Given the description of an element on the screen output the (x, y) to click on. 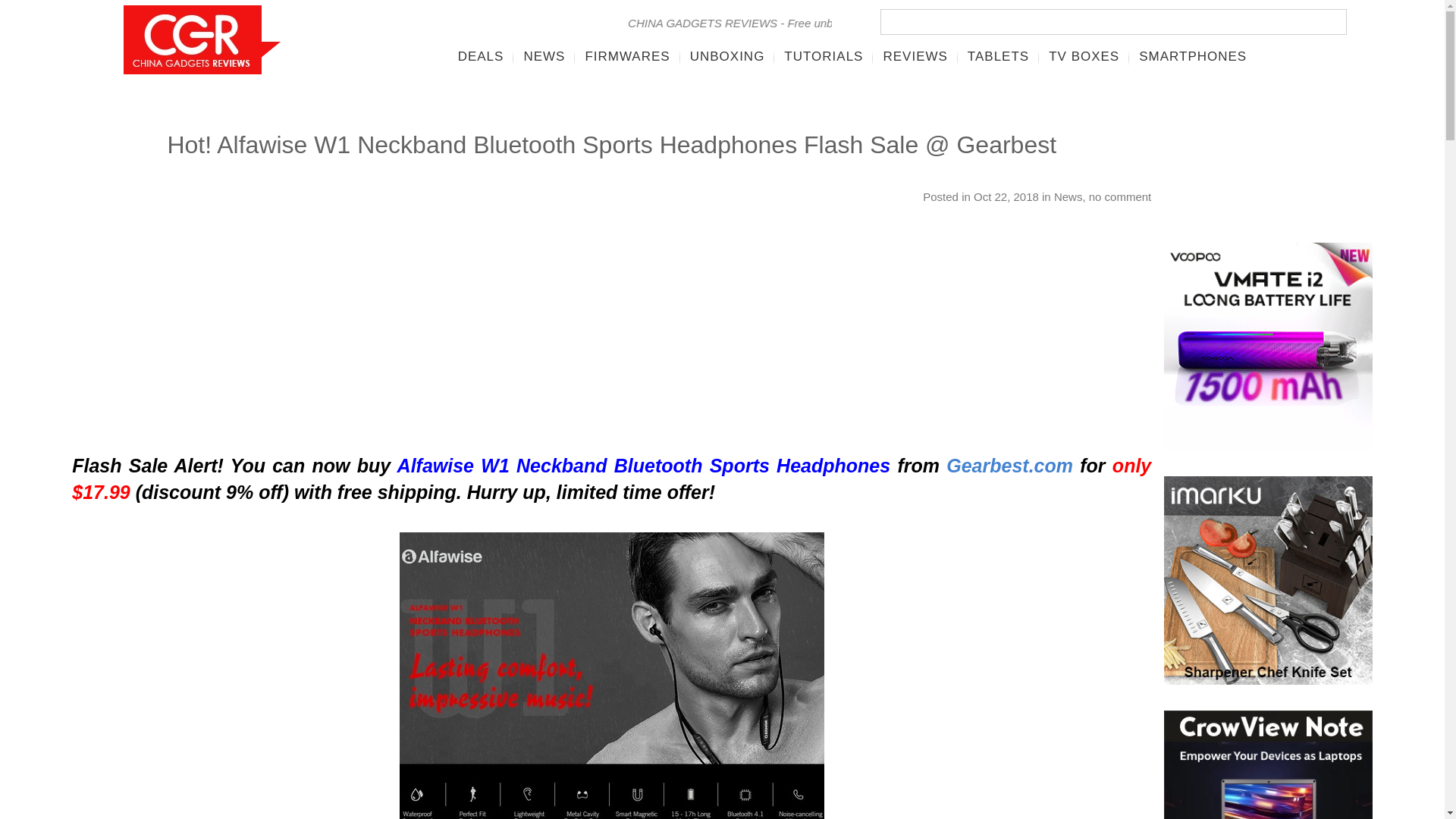
FIRMWARES (627, 56)
News (1068, 196)
Gearbest.com (1009, 465)
SMARTPHONES (1192, 56)
REVIEWS (914, 56)
UNBOXING (726, 56)
NEWS (544, 56)
TUTORIALS (823, 56)
TV BOXES (1084, 56)
